Given the description of an element on the screen output the (x, y) to click on. 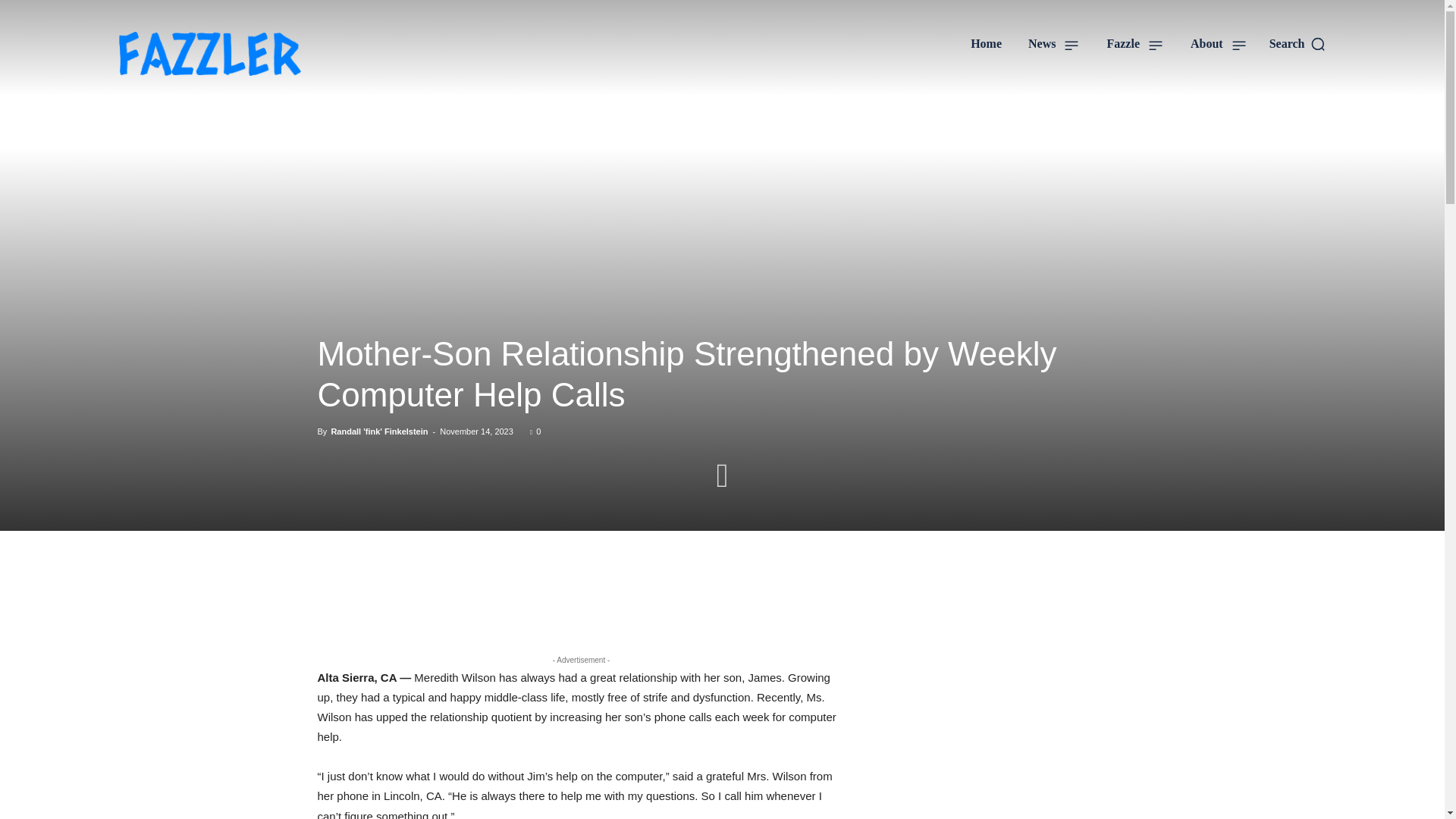
topFacebookLike (430, 575)
Home (986, 43)
About (1218, 43)
Fazzle (1134, 43)
News (1054, 43)
